Given the description of an element on the screen output the (x, y) to click on. 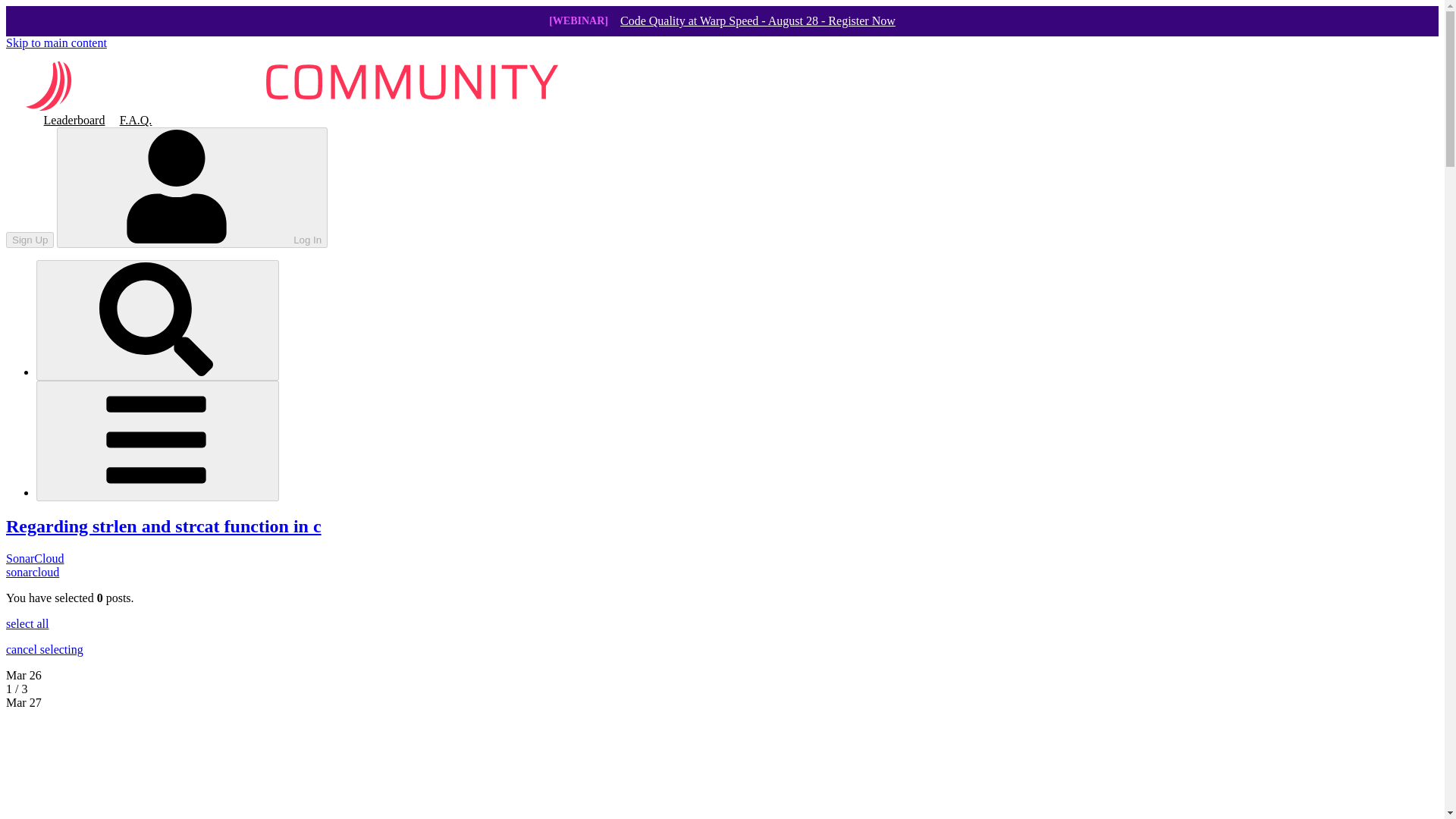
Leaderboard (74, 119)
sonarcloud (32, 571)
Skip to main content (55, 42)
F.A.Q. (135, 119)
cancel selecting (43, 649)
Regarding strlen and strcat function in c (163, 526)
SonarCloud (34, 558)
Code Quality at Warp Speed - August 28 - Register Now (757, 20)
select all (26, 623)
Log In (191, 187)
Jump to the first post (23, 675)
Frequently Asked Questions (135, 119)
Who's the most helpful active and supportive this week? (74, 119)
Mar 26 (23, 675)
menu (157, 440)
